Given the description of an element on the screen output the (x, y) to click on. 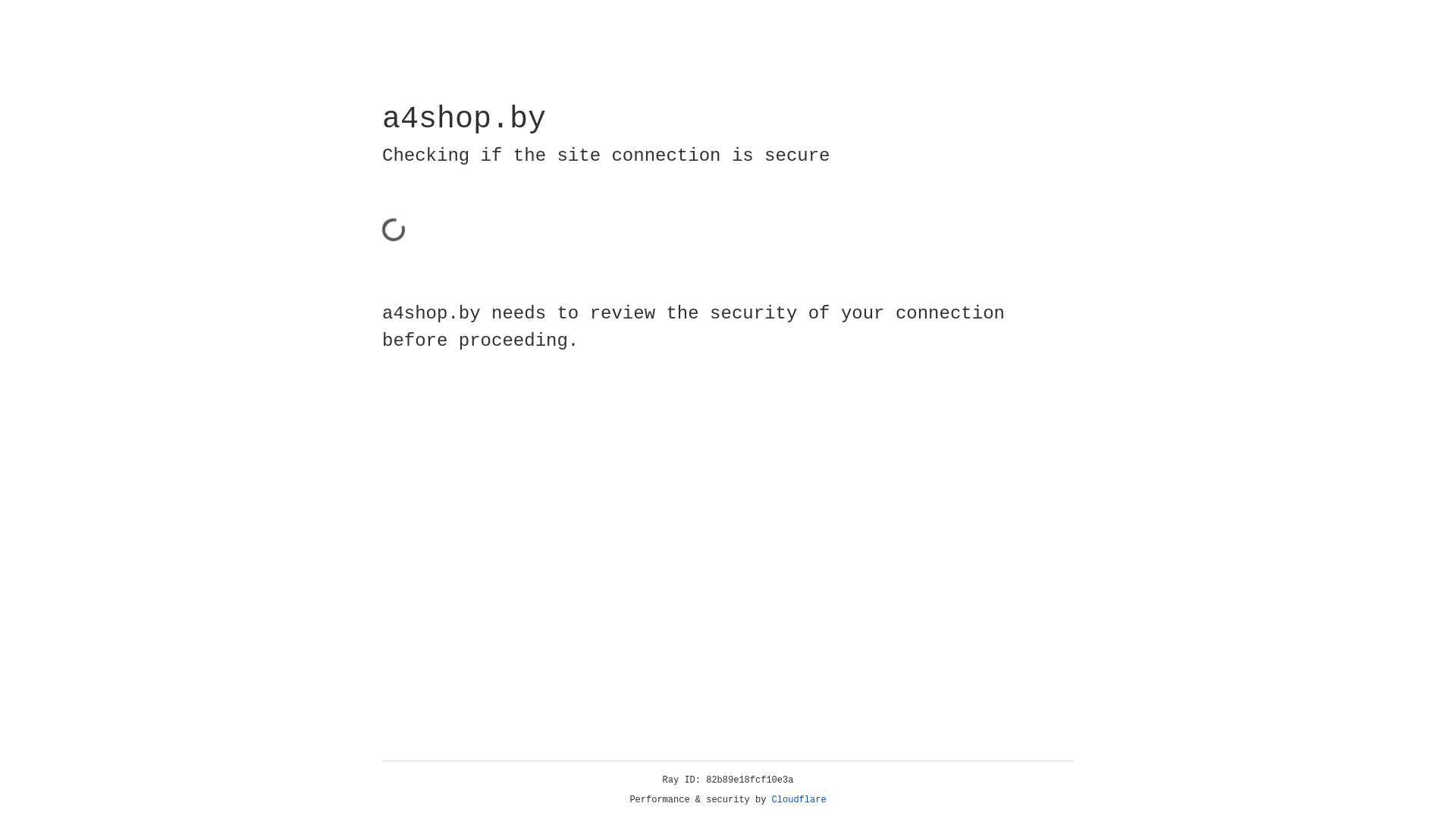
Cloudflare Element type: text (798, 799)
